Given the description of an element on the screen output the (x, y) to click on. 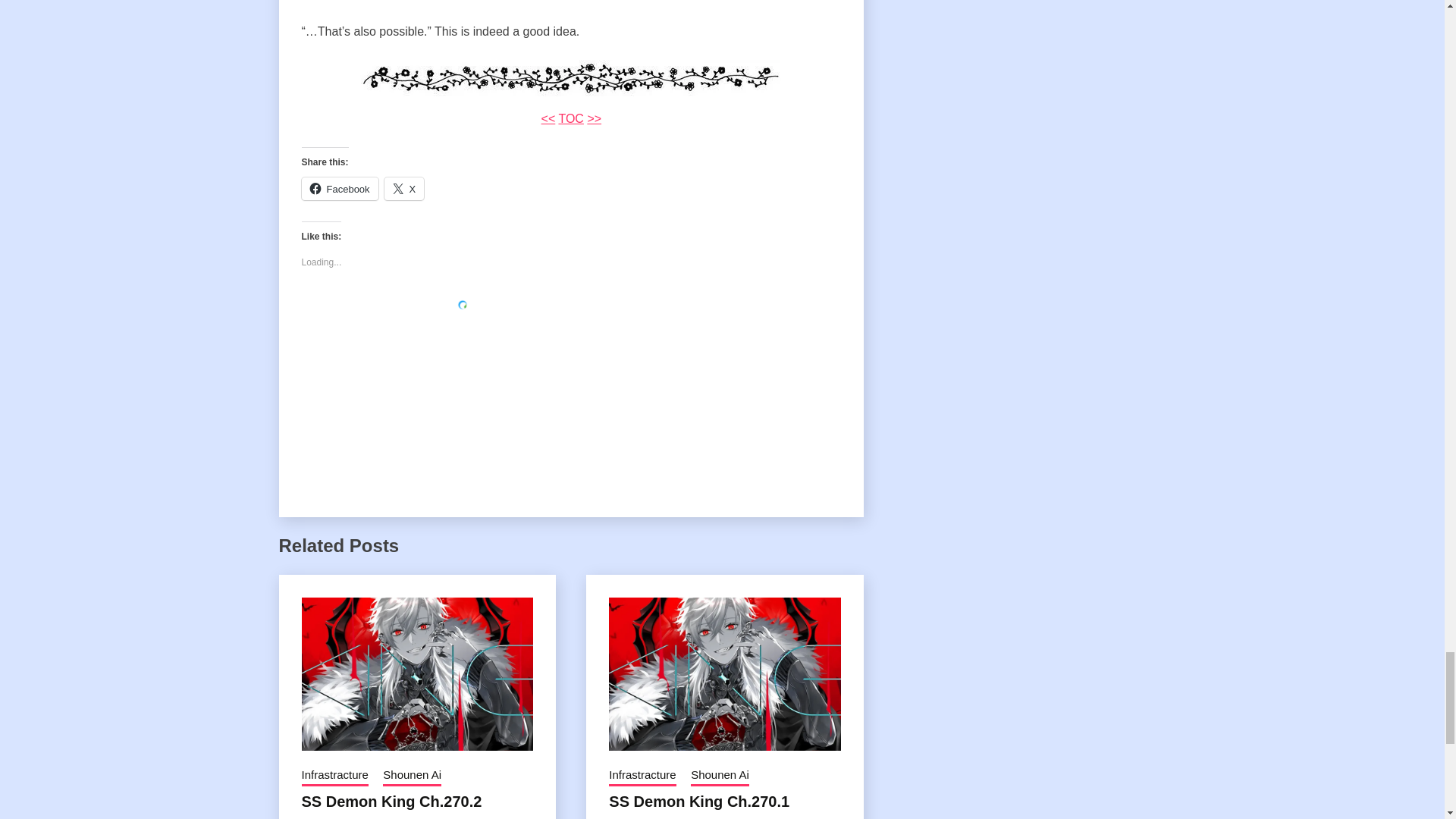
TOC (570, 118)
X (404, 188)
Infrastracture (334, 776)
SS Demon King Ch.270.2 (391, 801)
Facebook (339, 188)
SS Demon King Ch.270.1 (698, 801)
Click to share on X (404, 188)
Shounen Ai (719, 776)
Infrastracture (641, 776)
Shounen Ai (411, 776)
Click to share on Facebook (339, 188)
